Given the description of an element on the screen output the (x, y) to click on. 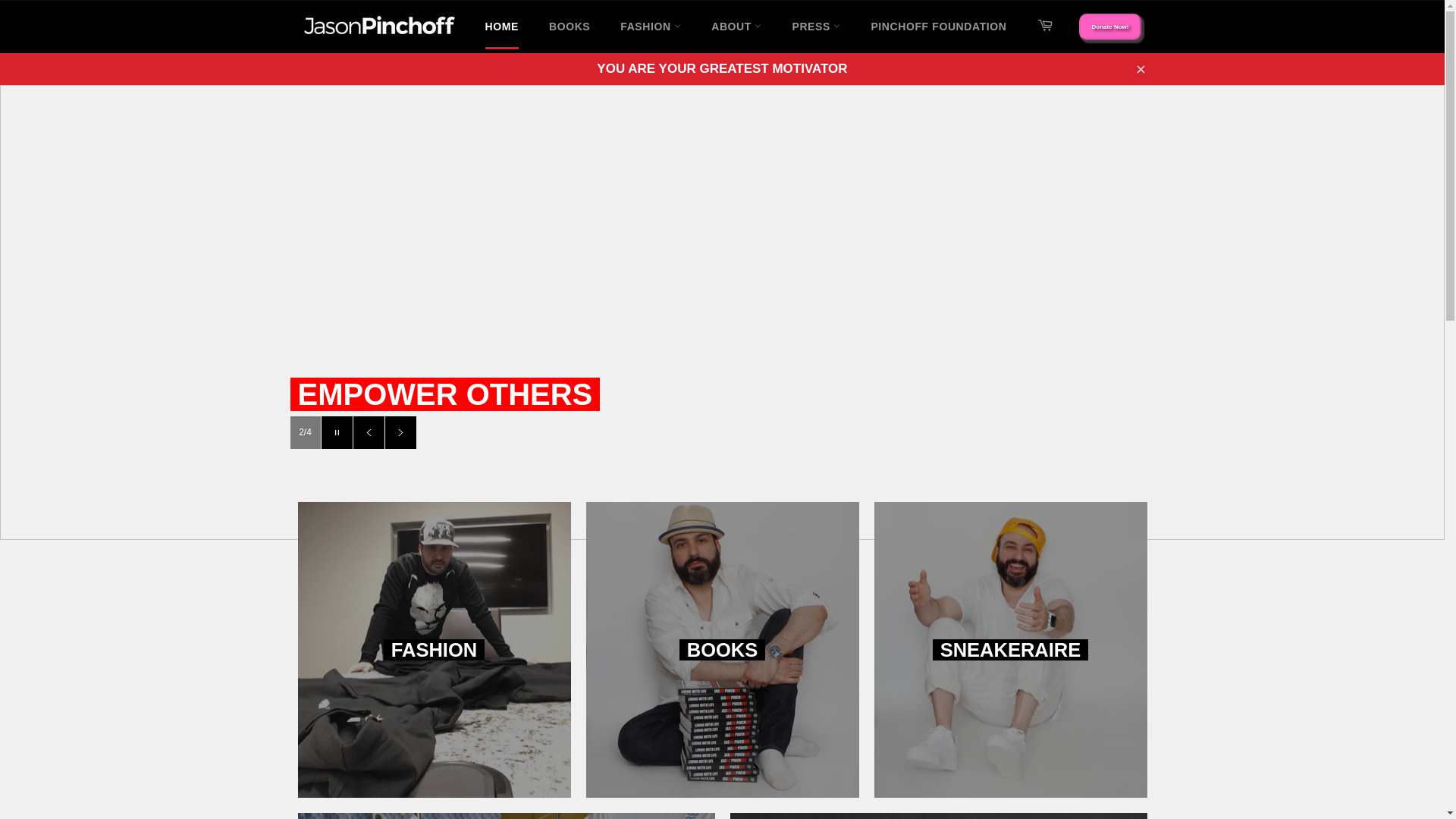
HOME (502, 26)
PayPal - The safer, easier way to pay online! (1109, 26)
FASHION (650, 26)
BOOKS (569, 26)
ABOUT (735, 26)
